Given the description of an element on the screen output the (x, y) to click on. 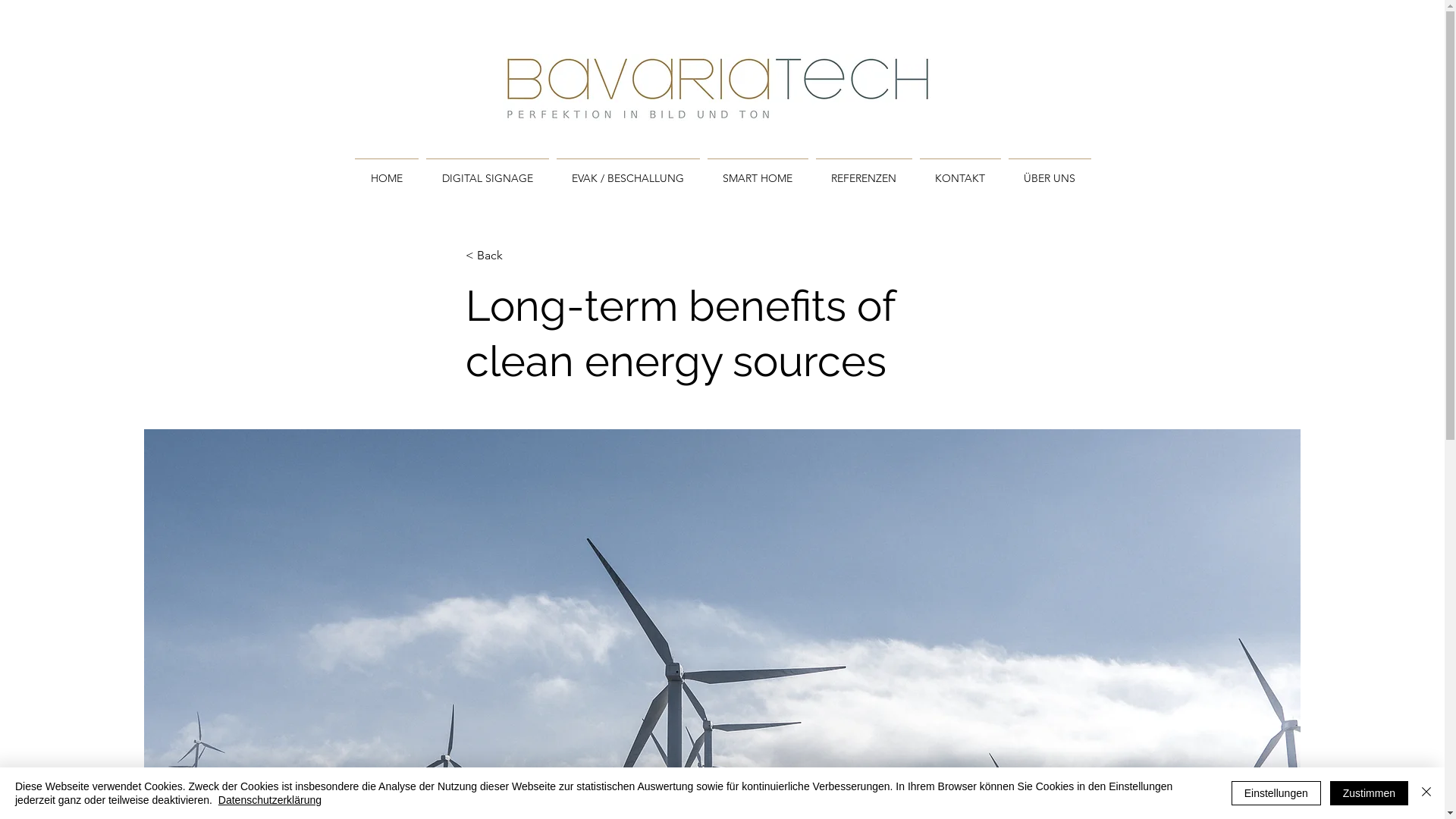
DIGITAL SIGNAGE Element type: text (486, 171)
Zustimmen Element type: text (1369, 793)
Einstellungen Element type: text (1276, 793)
EVAK / BESCHALLUNG Element type: text (627, 171)
SMART HOME Element type: text (757, 171)
HOME Element type: text (385, 171)
KONTAKT Element type: text (960, 171)
REFERENZEN Element type: text (863, 171)
TWIPLA (Visitor Analytics) Element type: hover (1442, 3)
